Given the description of an element on the screen output the (x, y) to click on. 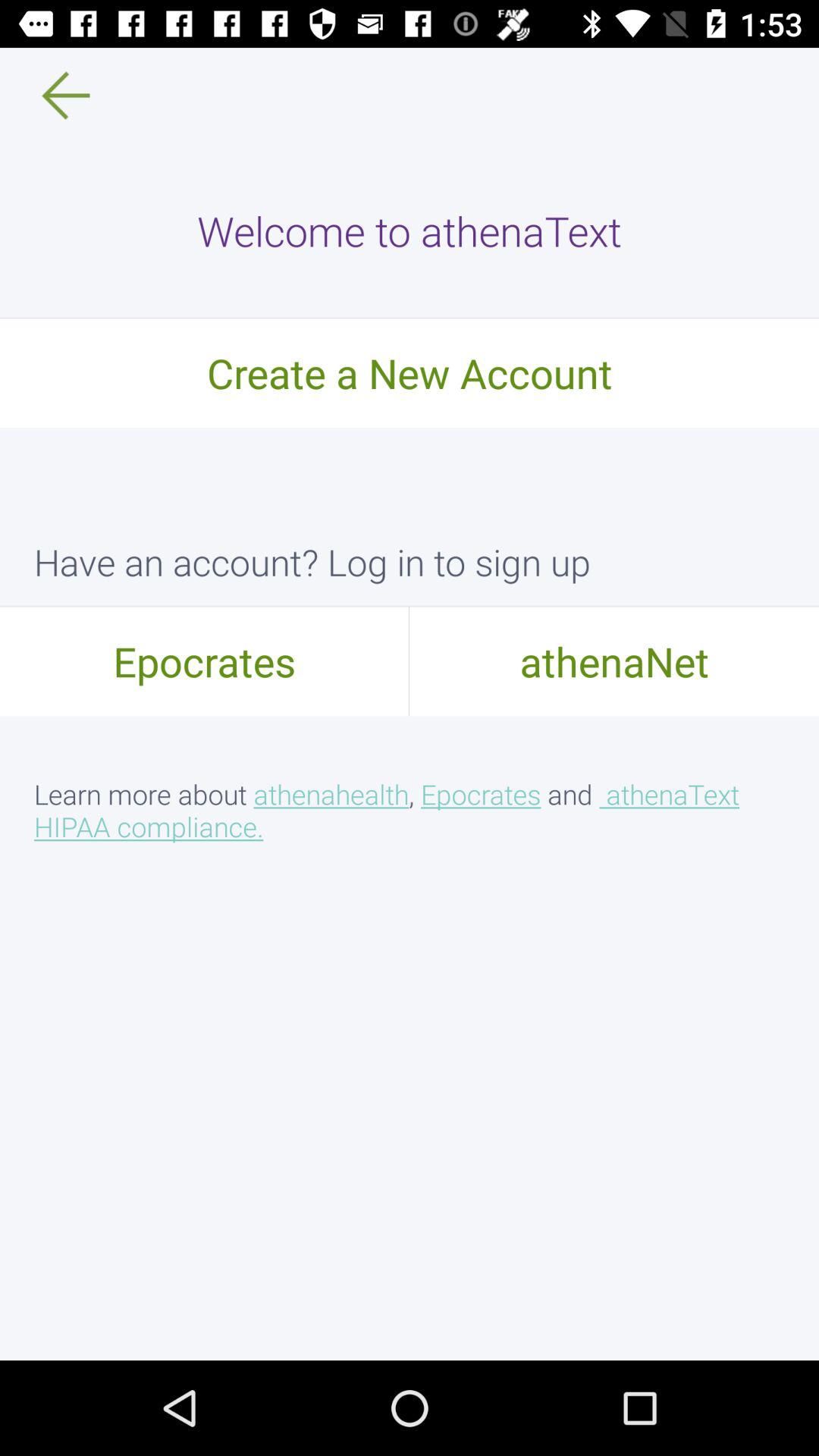
turn off the learn more about (409, 810)
